Given the description of an element on the screen output the (x, y) to click on. 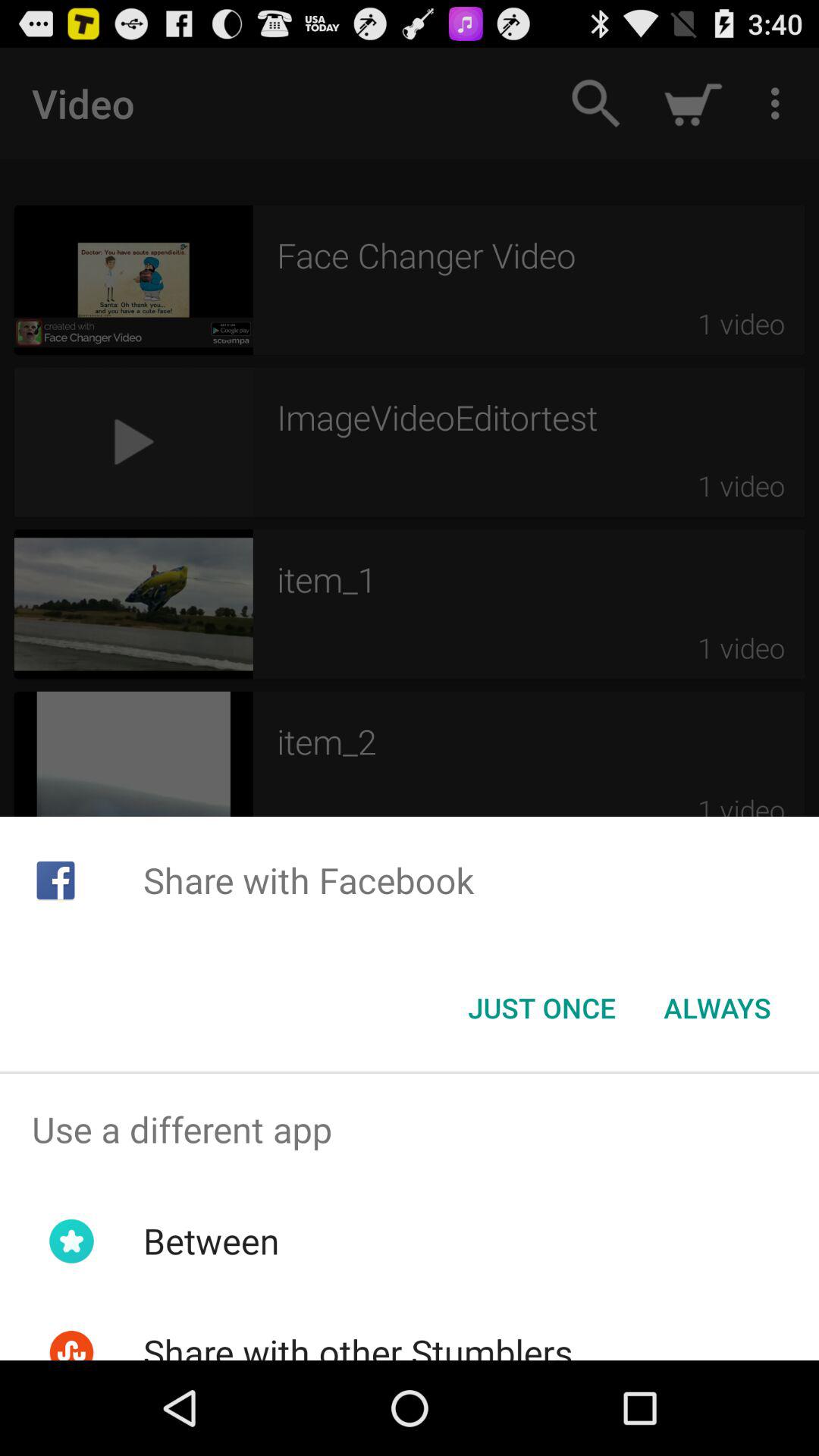
launch icon at the bottom right corner (717, 1007)
